Given the description of an element on the screen output the (x, y) to click on. 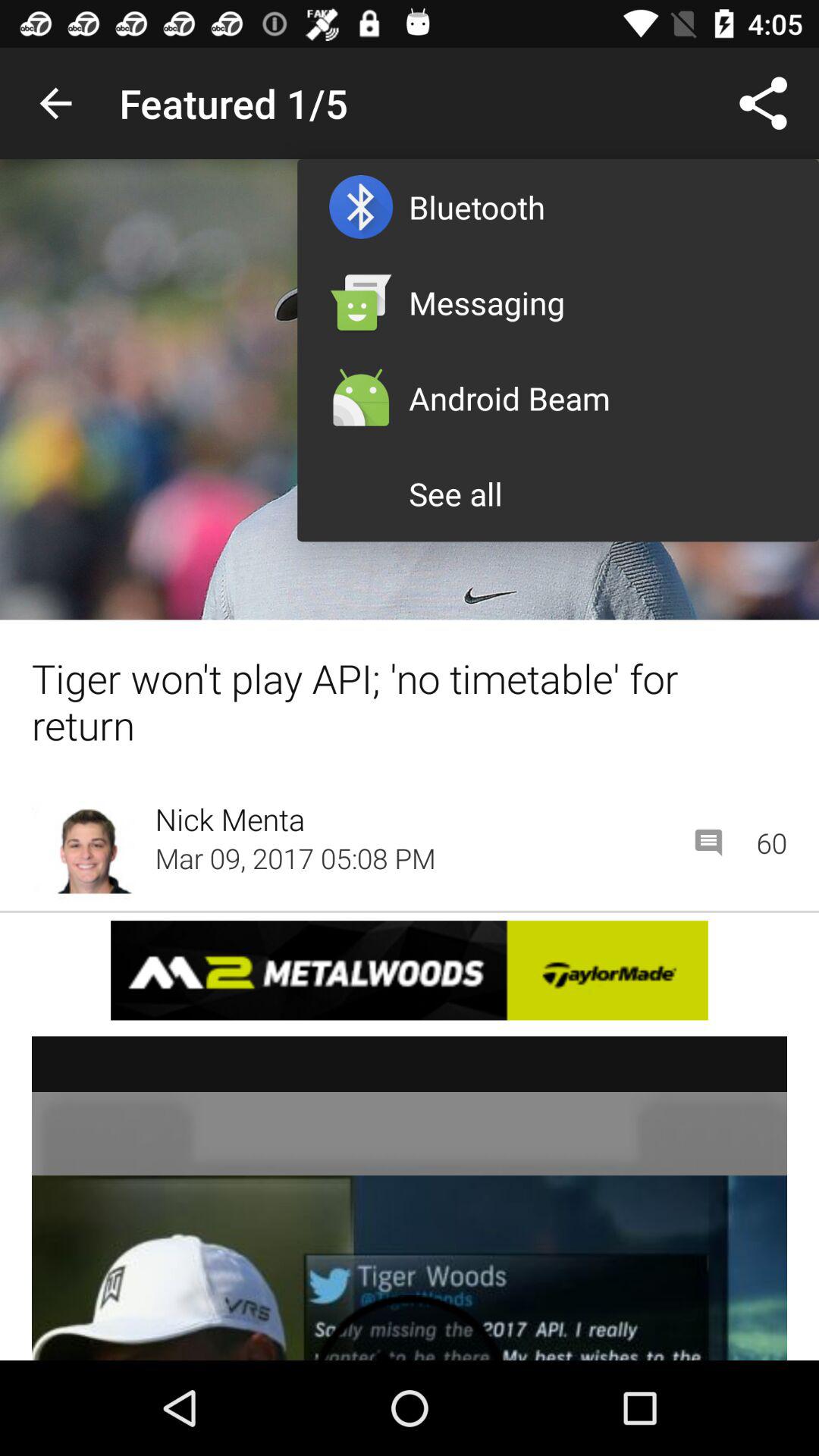
advertisement page (409, 970)
